Given the description of an element on the screen output the (x, y) to click on. 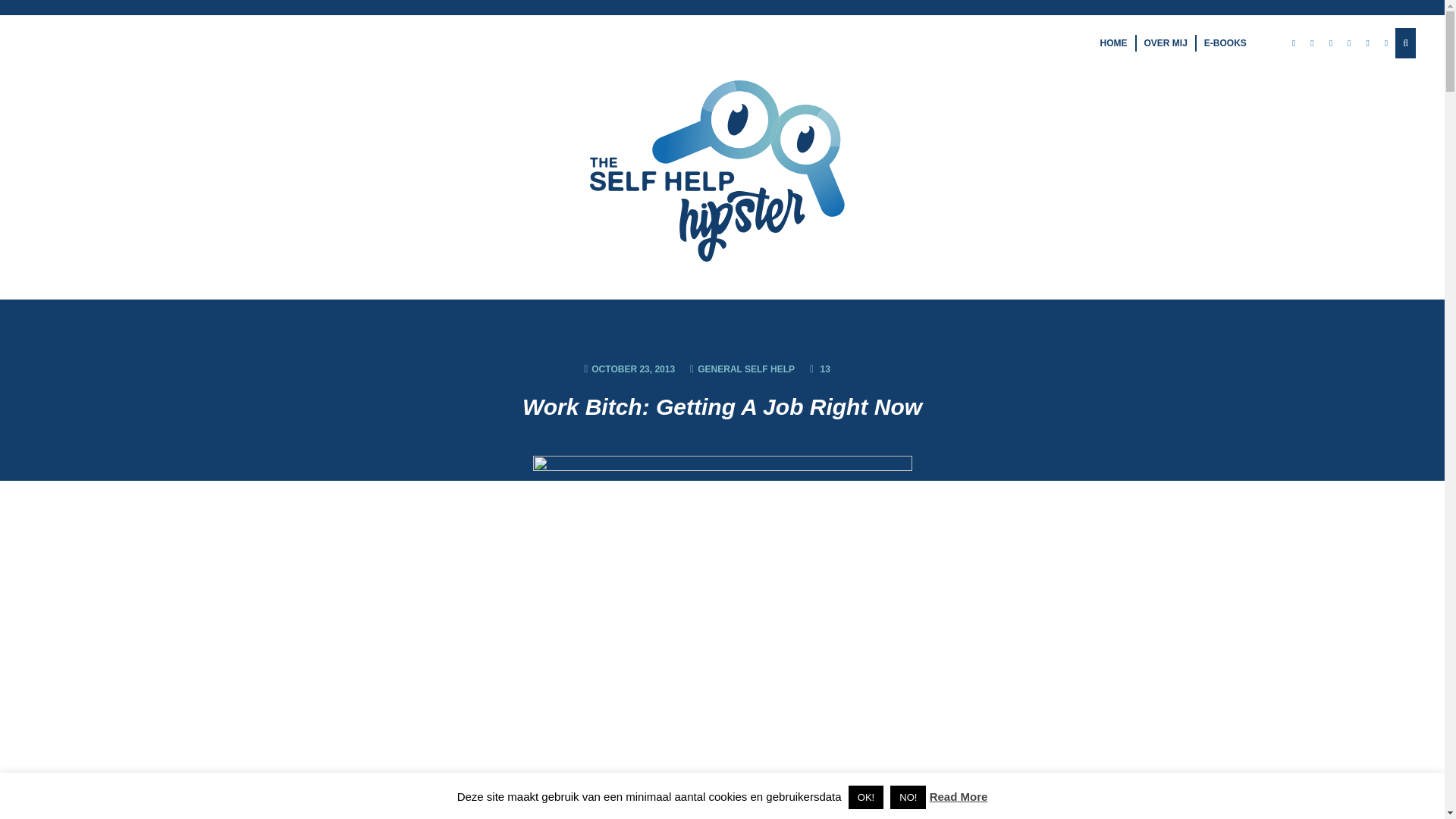
HOME (1112, 42)
OVER MIJ (1164, 42)
E-BOOKS (1225, 42)
the Self Help Hipster (722, 165)
13 (819, 368)
GENERAL SELF HELP (745, 368)
